Given the description of an element on the screen output the (x, y) to click on. 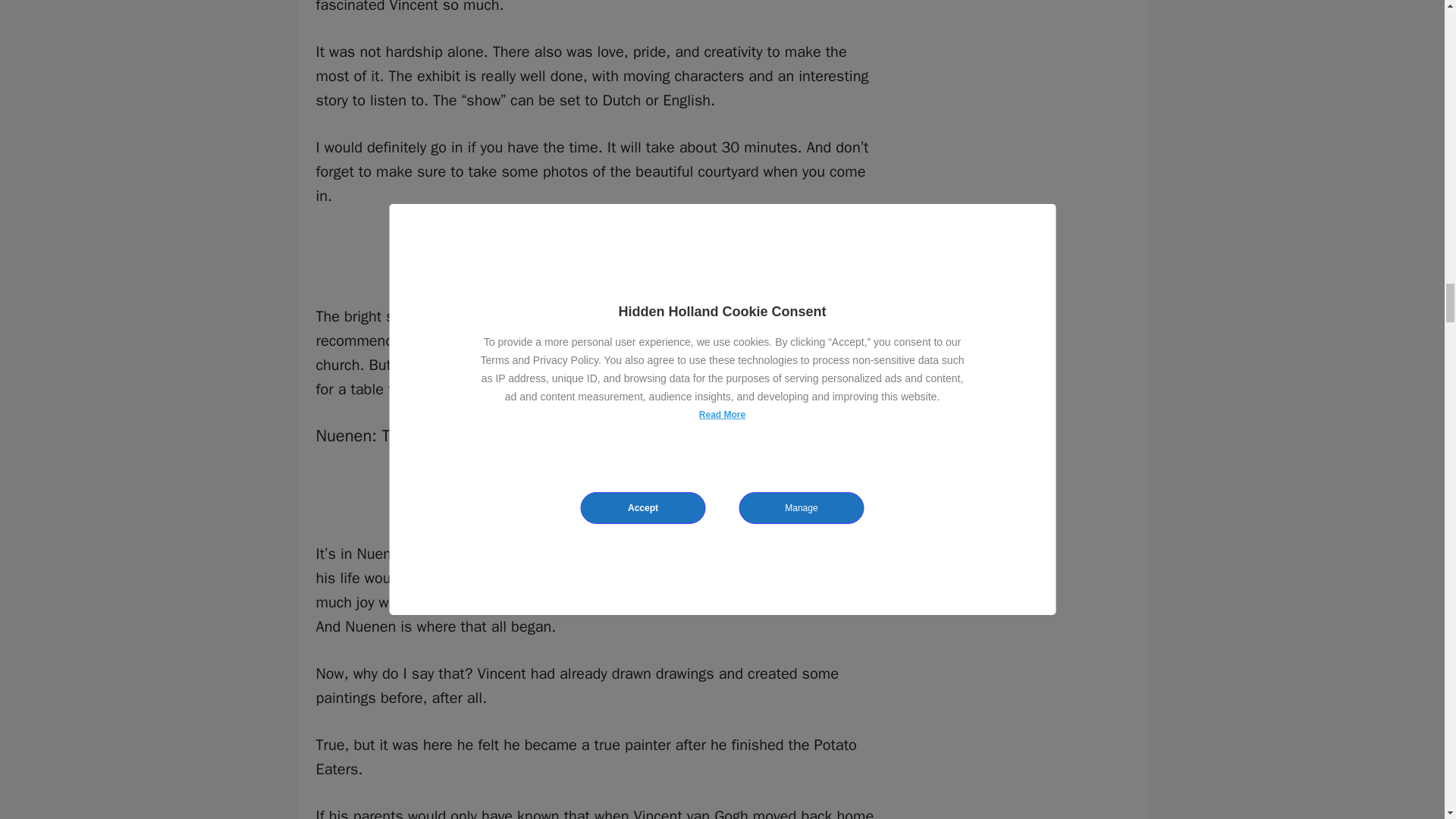
van-gogh-nuenen-church (597, 481)
vincents-bistro-hotel-etten (597, 243)
